Given the description of an element on the screen output the (x, y) to click on. 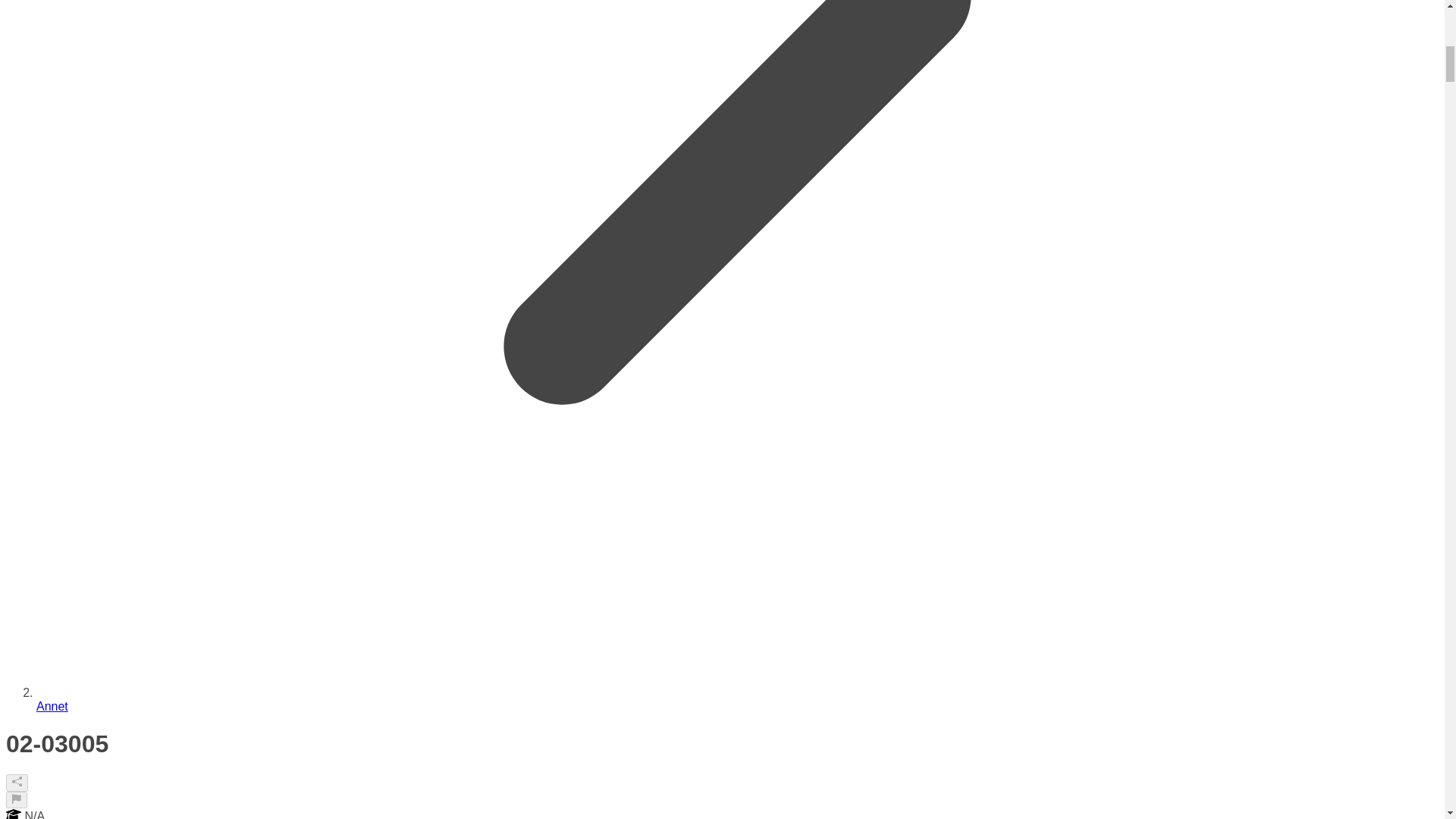
Report (16, 799)
Annet (52, 706)
Share (16, 782)
